Given the description of an element on the screen output the (x, y) to click on. 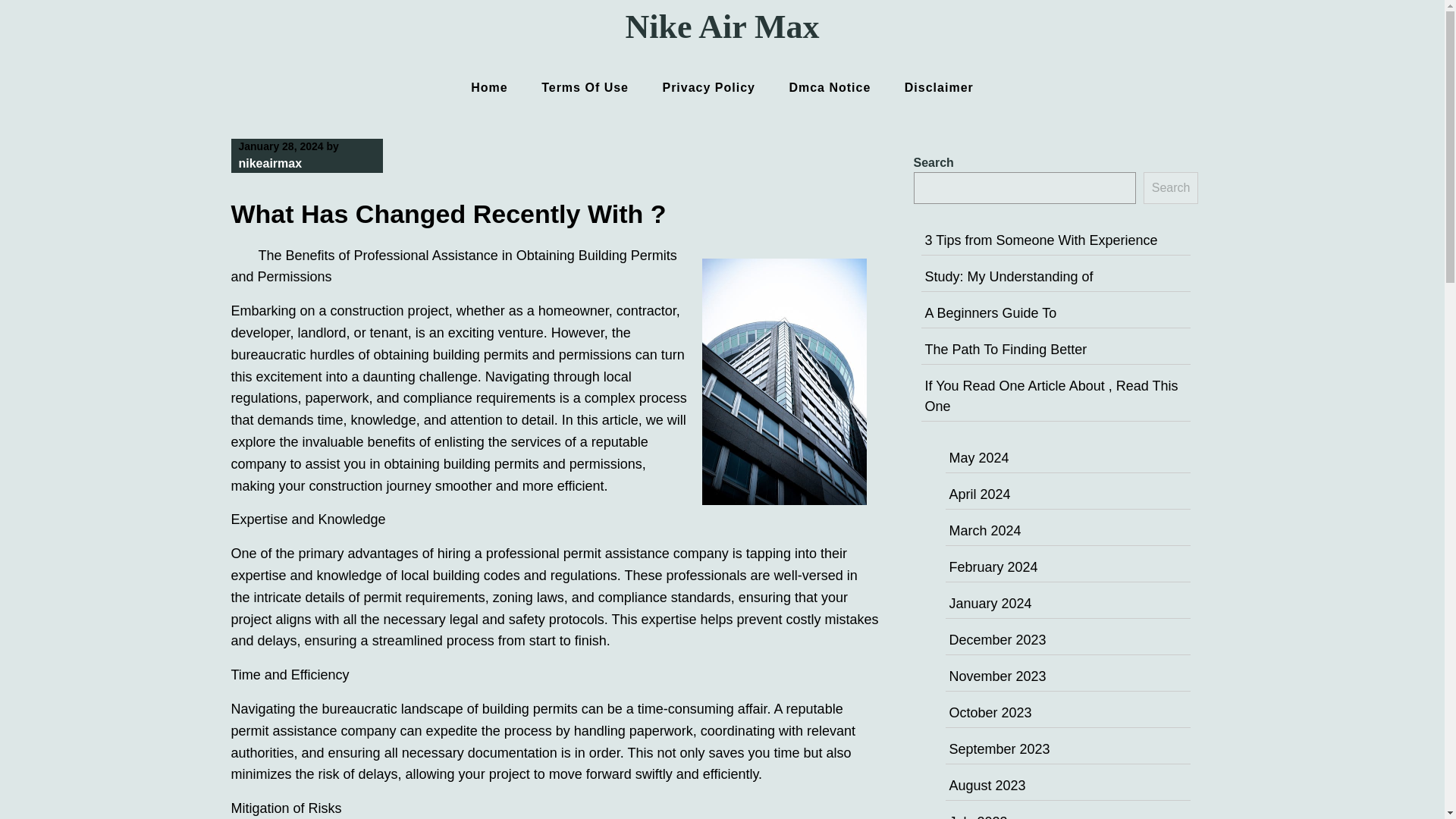
Home (488, 87)
October 2023 (990, 712)
Terms Of Use (584, 87)
nikeairmax (269, 163)
Search (1170, 187)
Nike Air Max (722, 26)
May 2024 (979, 458)
December 2023 (997, 639)
3 Tips from Someone With Experience (1040, 240)
July 2023 (978, 816)
